Given the description of an element on the screen output the (x, y) to click on. 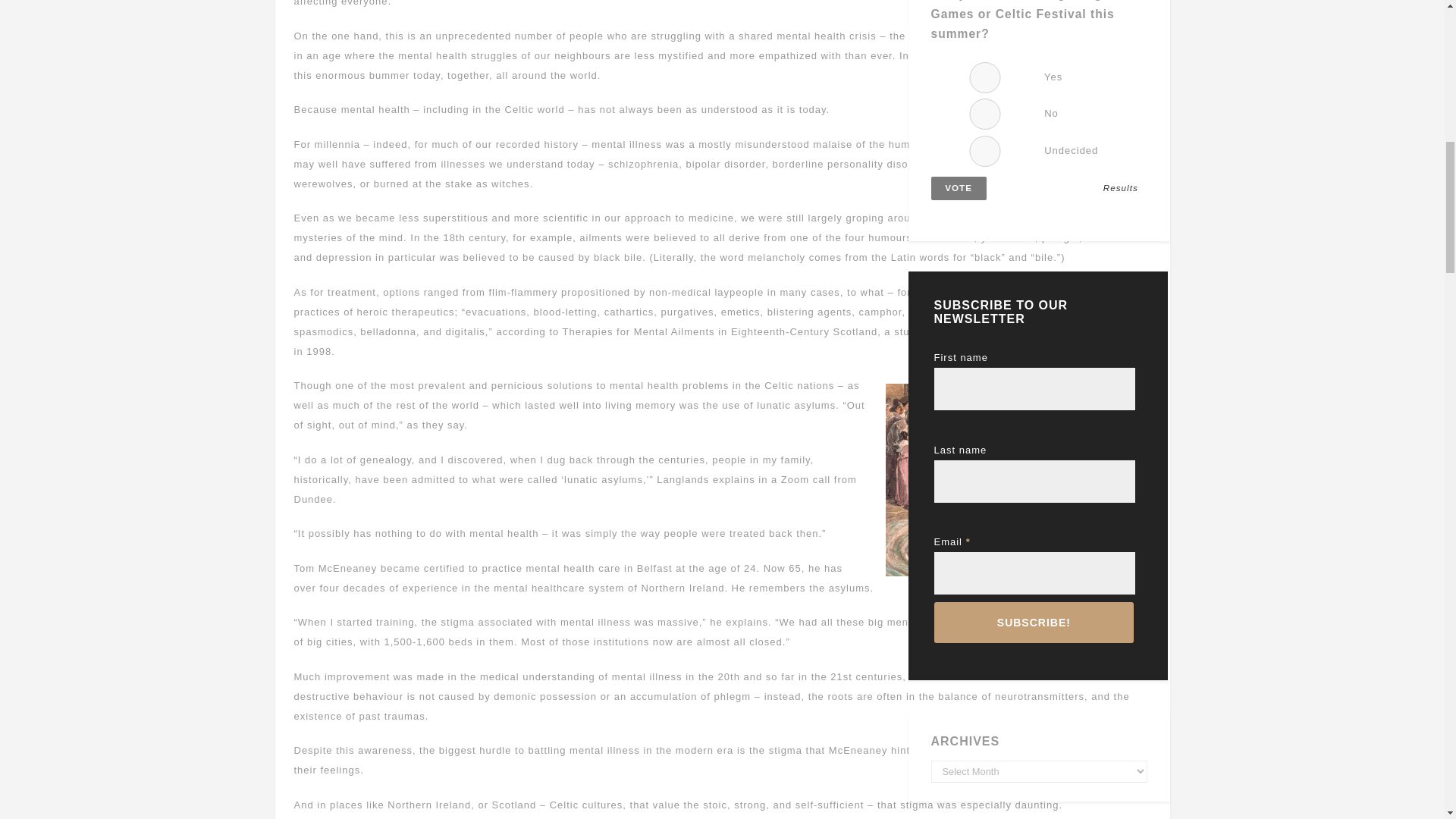
330 (985, 151)
Vote (959, 187)
Email (1034, 573)
Subscribe! (1034, 621)
328 (985, 77)
First name (1034, 388)
329 (985, 113)
Last name (1034, 481)
